Given the description of an element on the screen output the (x, y) to click on. 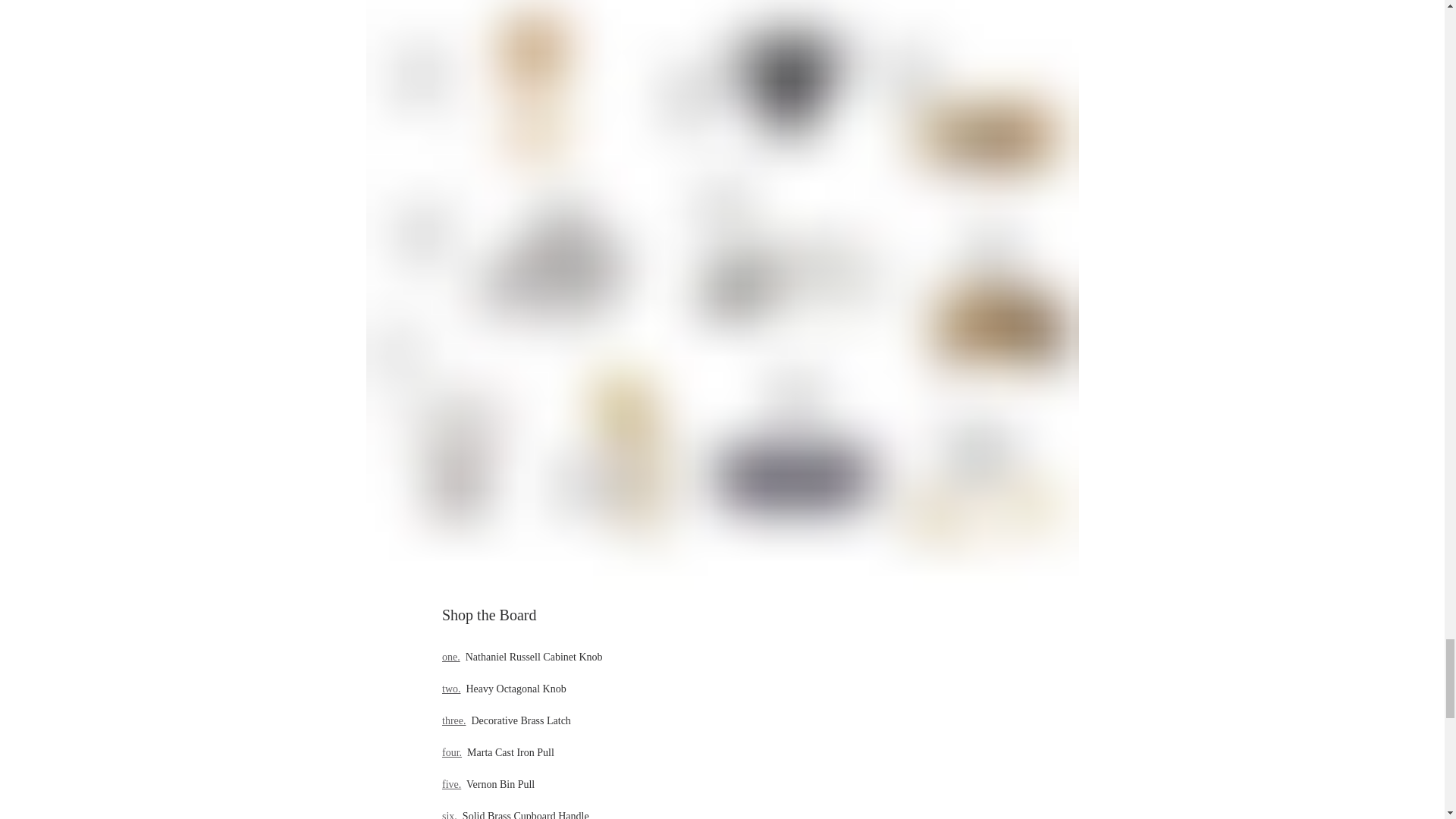
six. (449, 814)
five. (450, 784)
four. (451, 752)
three. (452, 720)
two. (450, 688)
one. (450, 656)
